Given the description of an element on the screen output the (x, y) to click on. 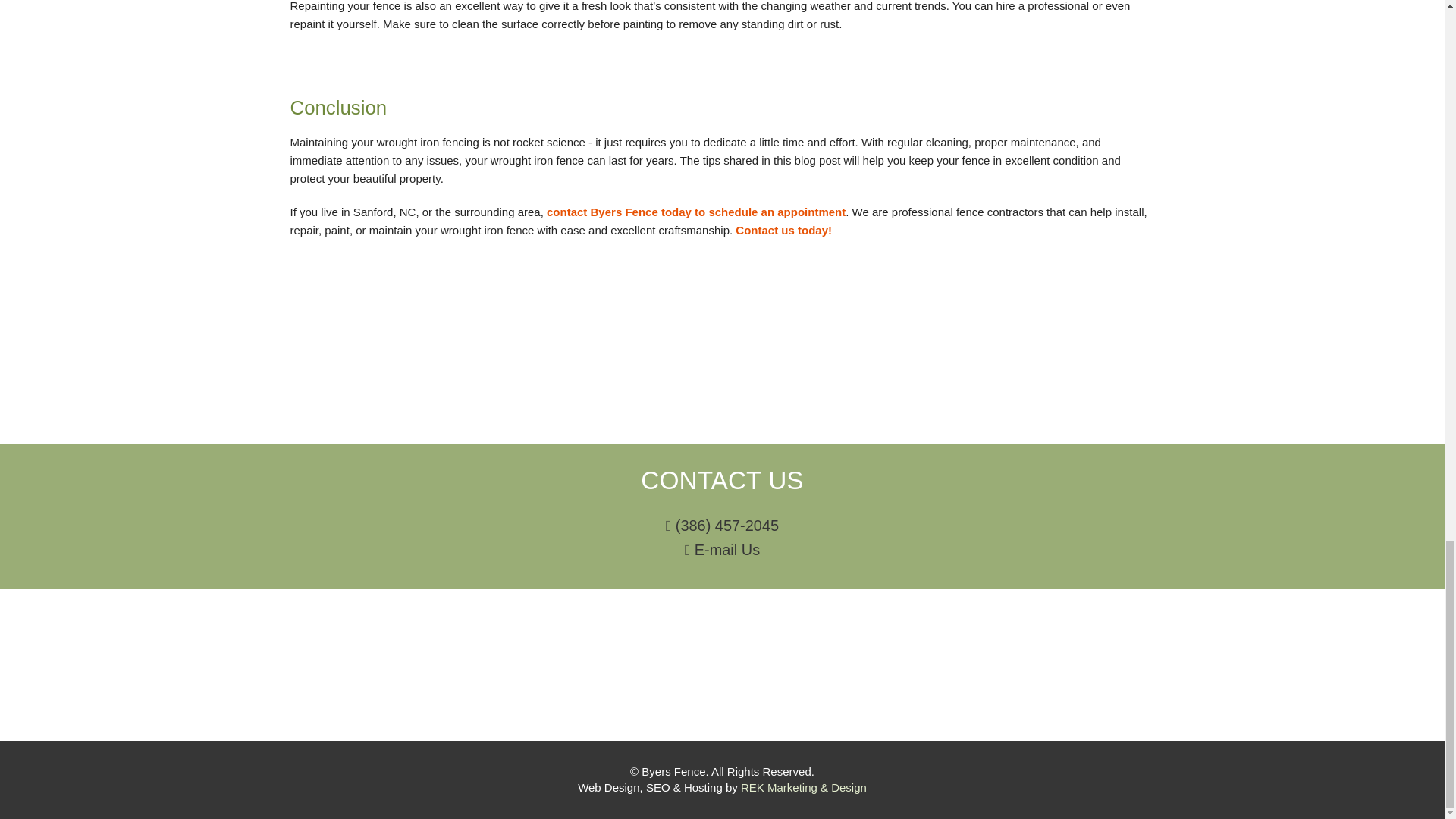
contact Byers Fence today to schedule an appointment (696, 211)
E-mail Us (721, 550)
Contact us today! (783, 229)
